Given the description of an element on the screen output the (x, y) to click on. 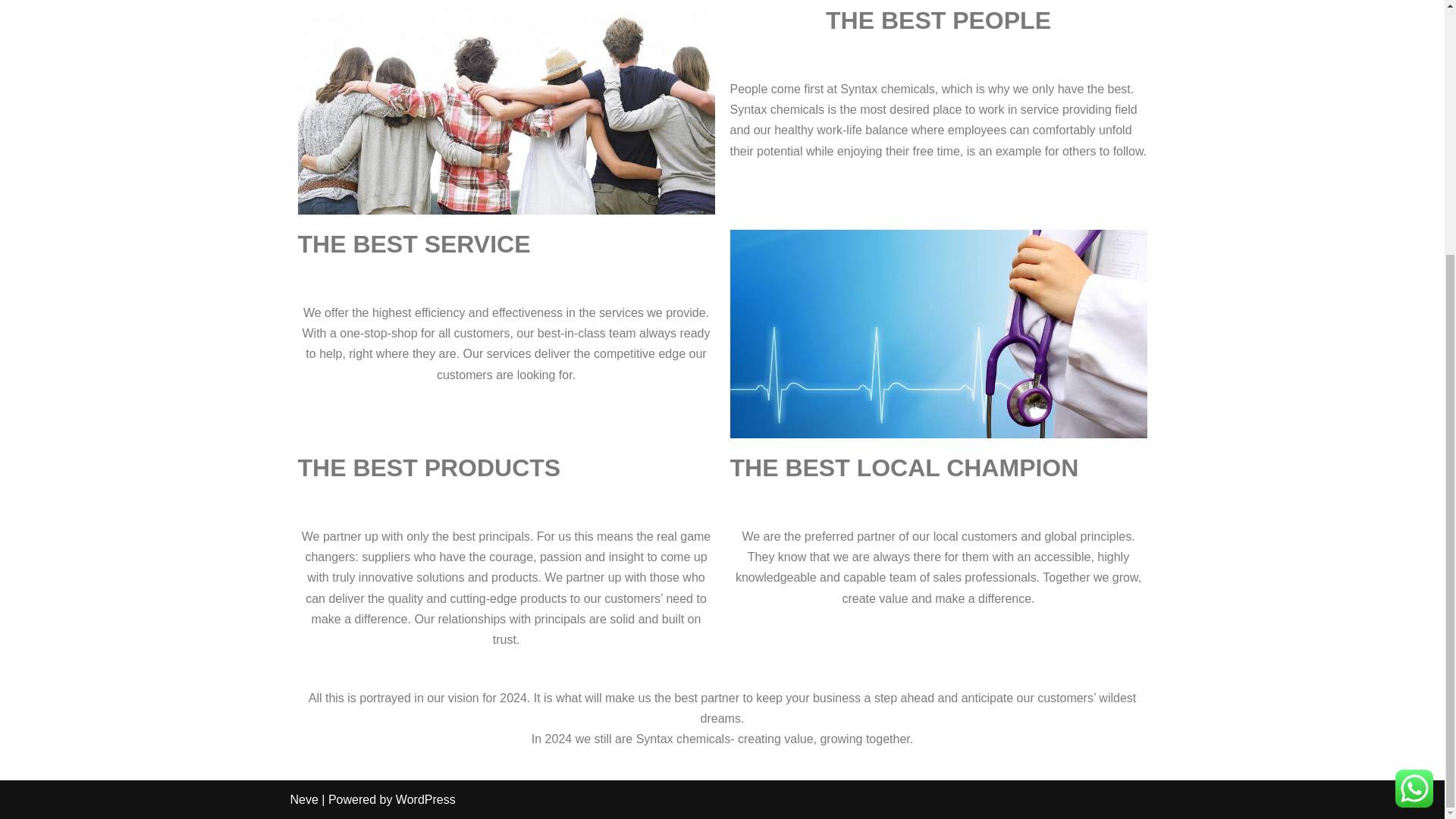
Neve (303, 799)
WordPress (425, 799)
